Given the description of an element on the screen output the (x, y) to click on. 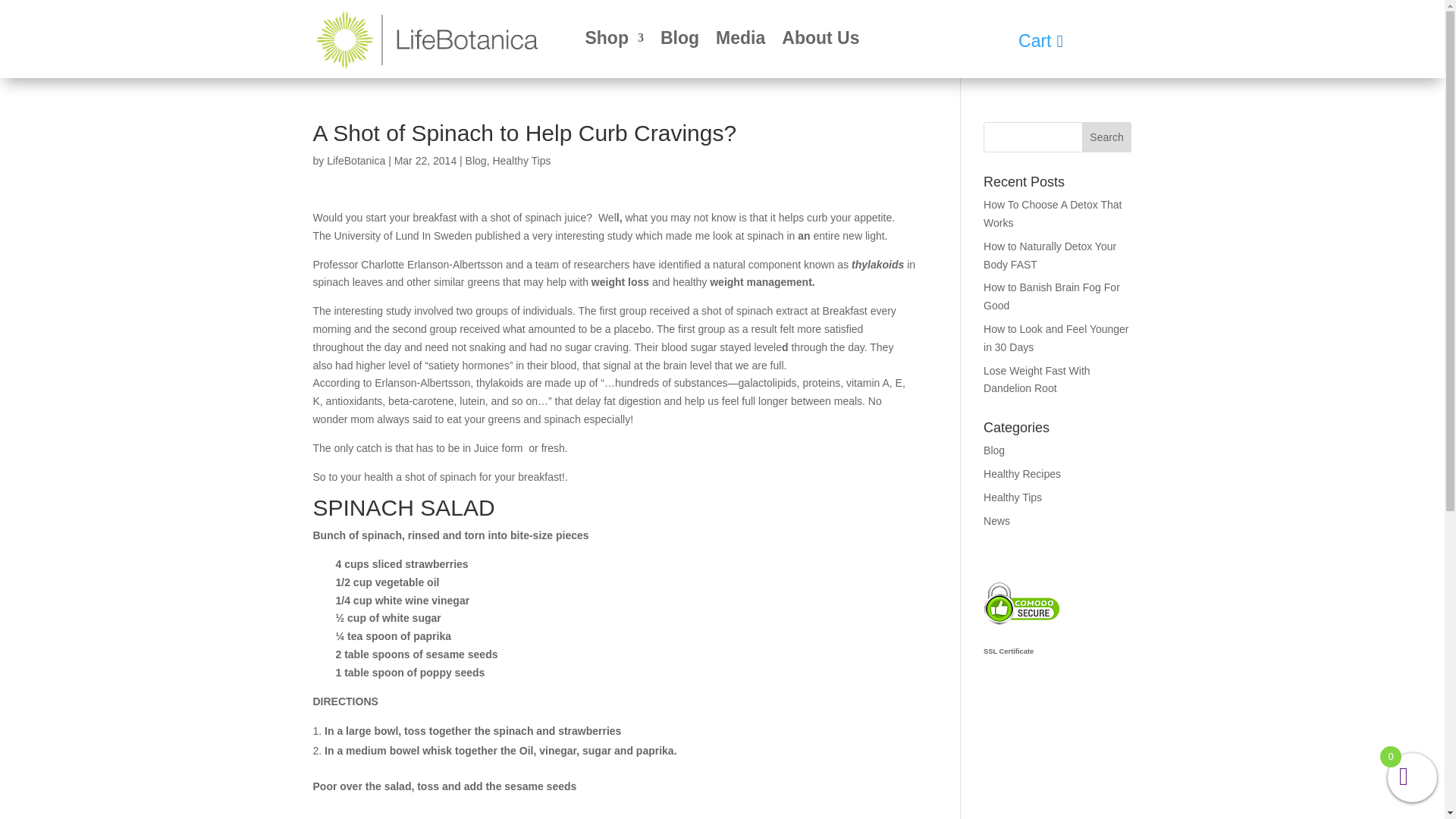
Blog (475, 160)
Blog (679, 40)
News (997, 520)
Search (1106, 137)
SSL Certificate (1021, 640)
Healthy Tips (1013, 497)
Lose Weight Fast With Dandelion Root (1037, 379)
How to Banish Brain Fog For Good (1051, 296)
How to Naturally Detox Your Body FAST (1050, 255)
Posts by LifeBotanica (355, 160)
Media (740, 40)
How To Choose A Detox That Works (1052, 214)
Healthy Tips (521, 160)
Cart (1046, 41)
Blog (994, 450)
